Given the description of an element on the screen output the (x, y) to click on. 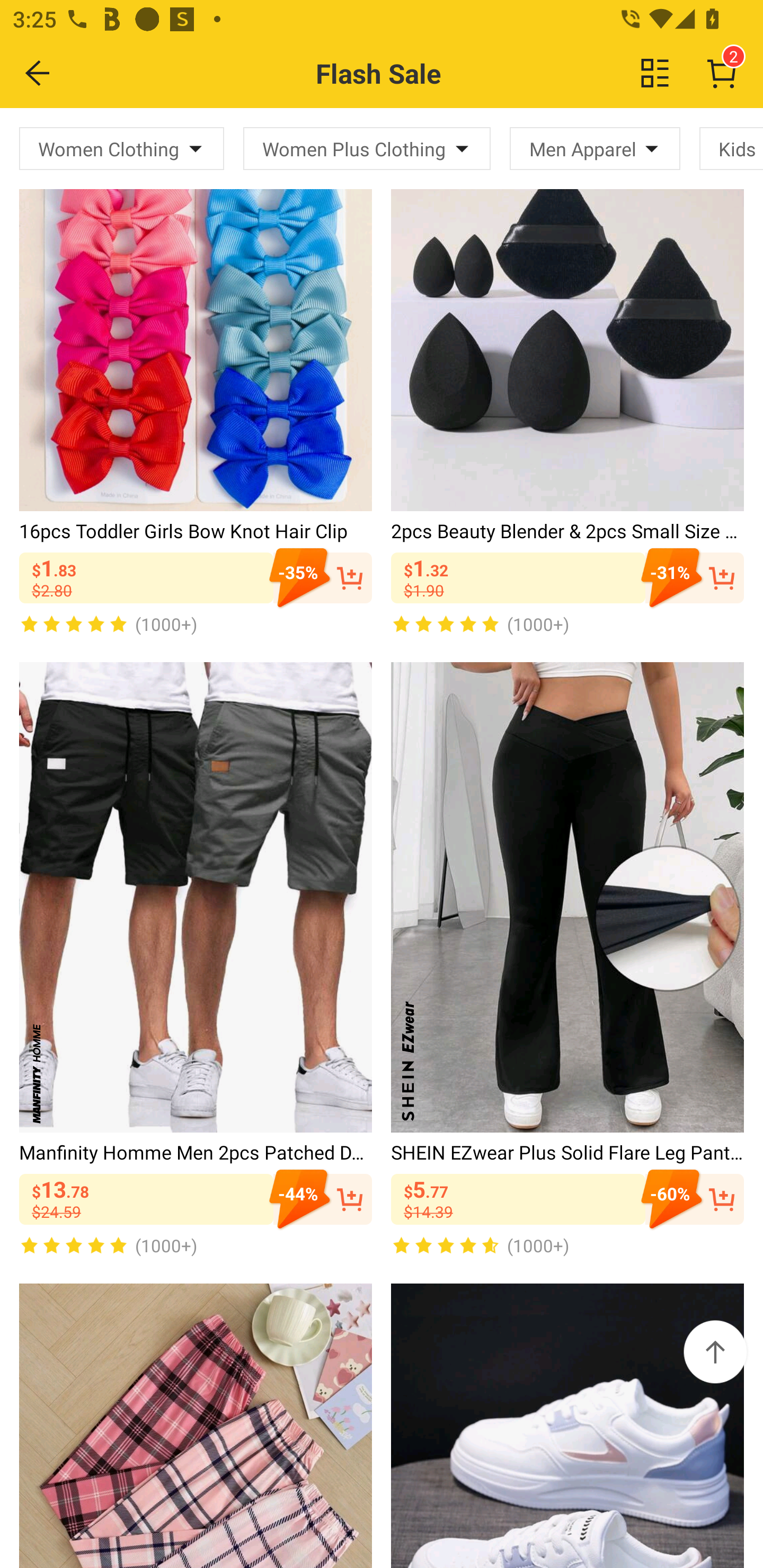
Flash Sale change view 2 (419, 72)
2 (721, 72)
change view (654, 72)
BACK (38, 72)
Women Clothing (121, 148)
Women Plus Clothing (366, 148)
Men Apparel (594, 148)
Kids (731, 148)
3pcs Plaid Print Sleep Pants (195, 1426)
Back to top (714, 1351)
